Given the description of an element on the screen output the (x, y) to click on. 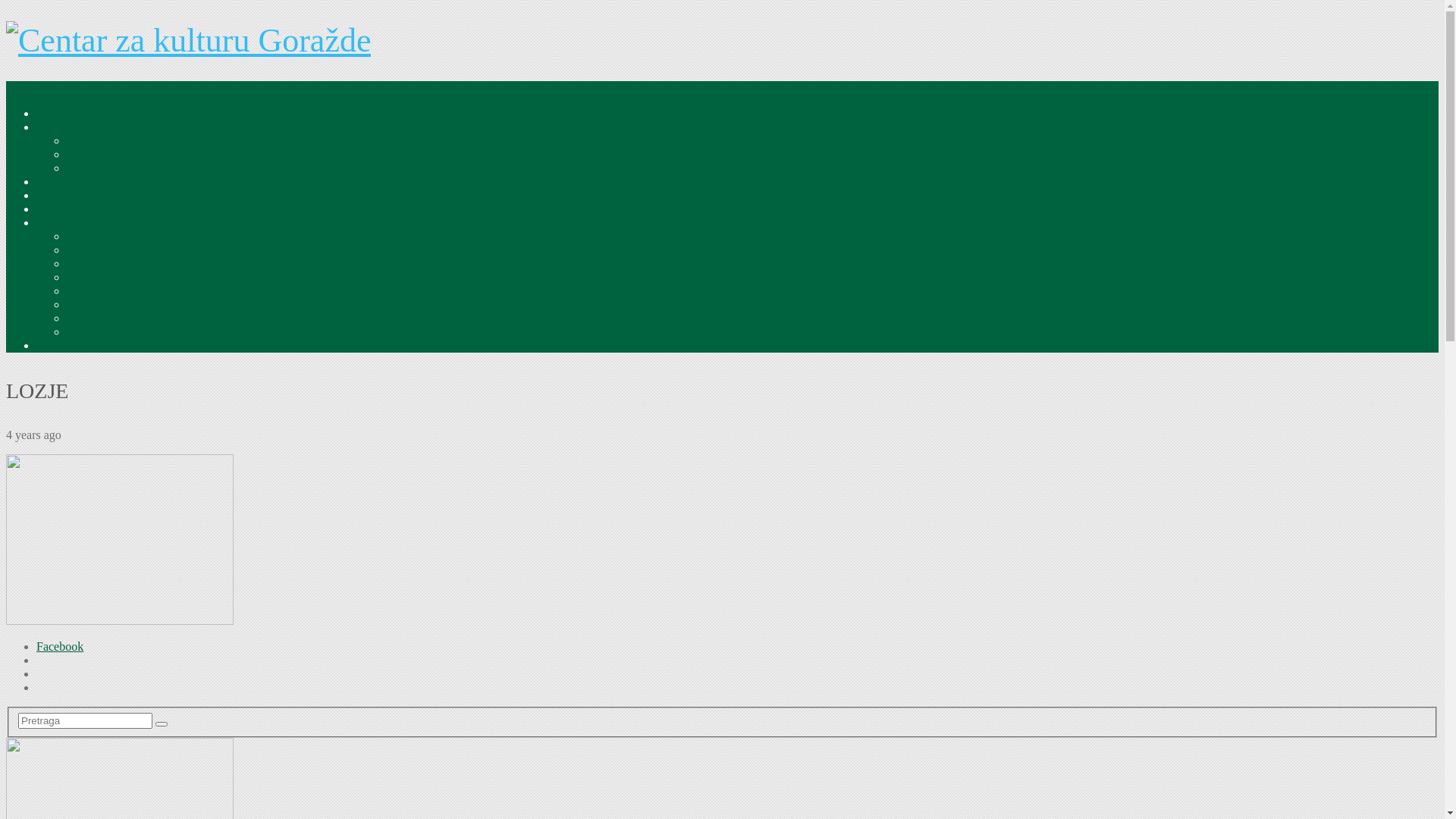
Facebook Element type: text (59, 646)
Novosti Element type: text (55, 181)
Menu Element type: text (20, 87)
Plan nabavki za 2022. godinu Element type: text (138, 317)
Tenderska dokumentacija Element type: text (128, 235)
Plan nabavki za 2017. godinu Element type: text (138, 249)
Dokumenti Element type: text (93, 167)
Prostorni kapaciteti Element type: text (113, 153)
O nama Element type: text (85, 140)
Biblioteka Element type: text (61, 194)
Javne nabavke Element type: text (71, 222)
Plan nabavki za 2018. godinu Element type: text (138, 263)
Konkursi i oglasi Element type: text (77, 344)
Plan nabavki za 2023. godinu Element type: text (138, 331)
Plan nabavki za 2021. godinu Element type: text (138, 304)
Plan nabavki za 2020. godinu Element type: text (138, 290)
Plan nabavki za 2019. godinu Element type: text (138, 276)
Centar za kulturu Element type: text (78, 126)
